Given the description of an element on the screen output the (x, y) to click on. 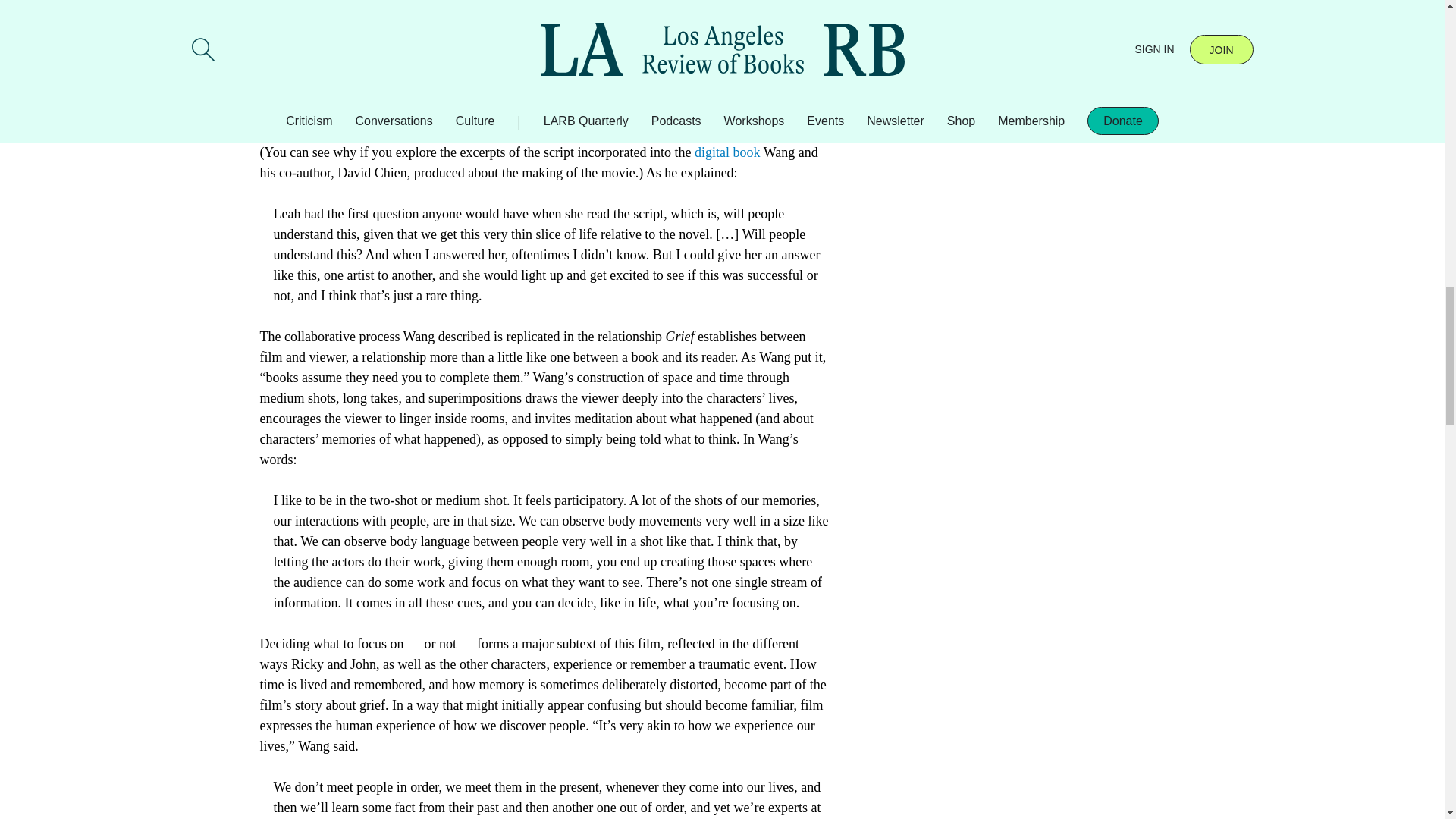
digital book (727, 151)
